Given the description of an element on the screen output the (x, y) to click on. 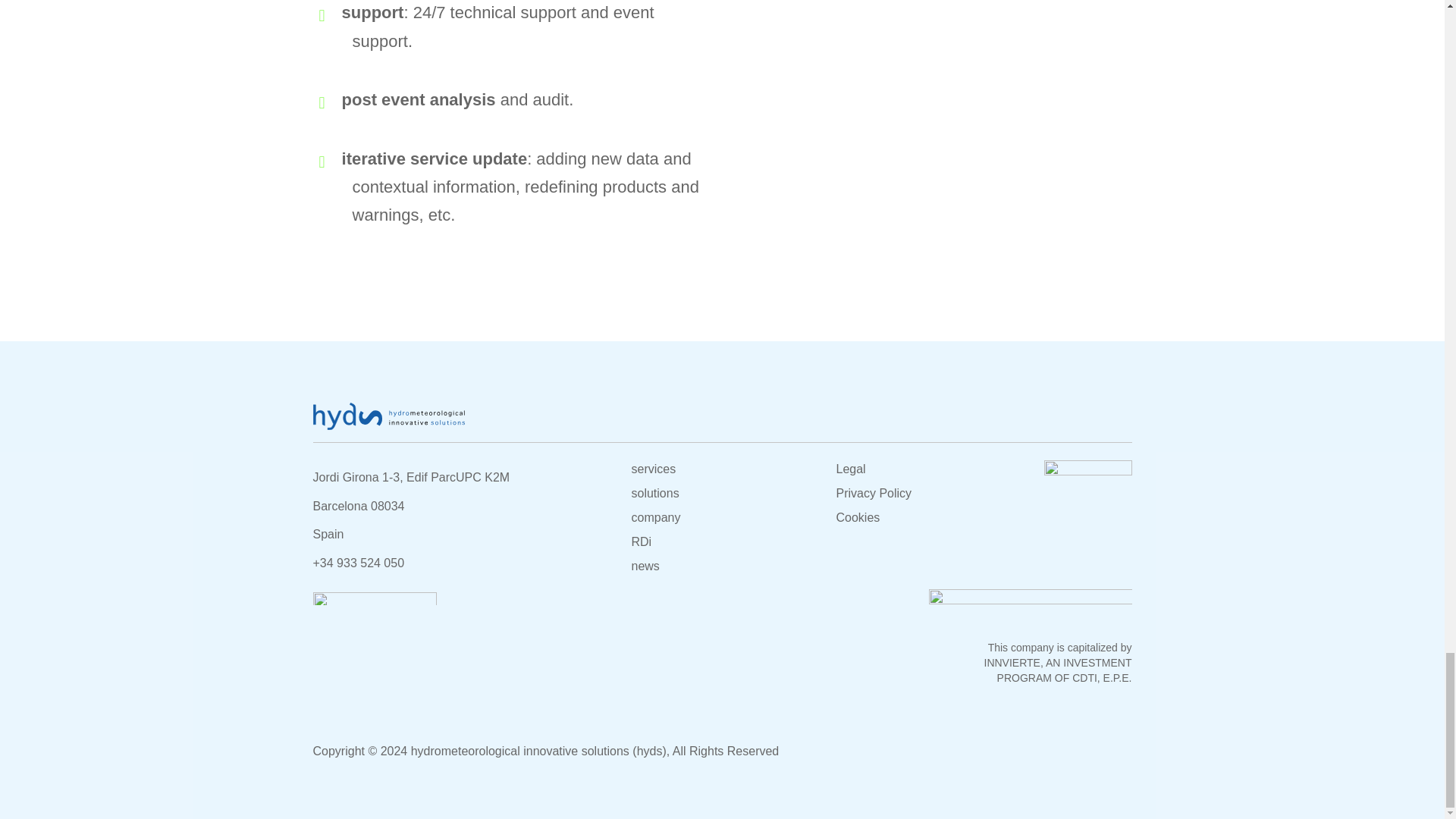
news (644, 565)
services (652, 468)
Innovative SME (1087, 469)
Privacy Policy (873, 492)
solutions (654, 492)
RDi (640, 541)
Legal (849, 468)
company (654, 517)
Cookies (857, 517)
